Given the description of an element on the screen output the (x, y) to click on. 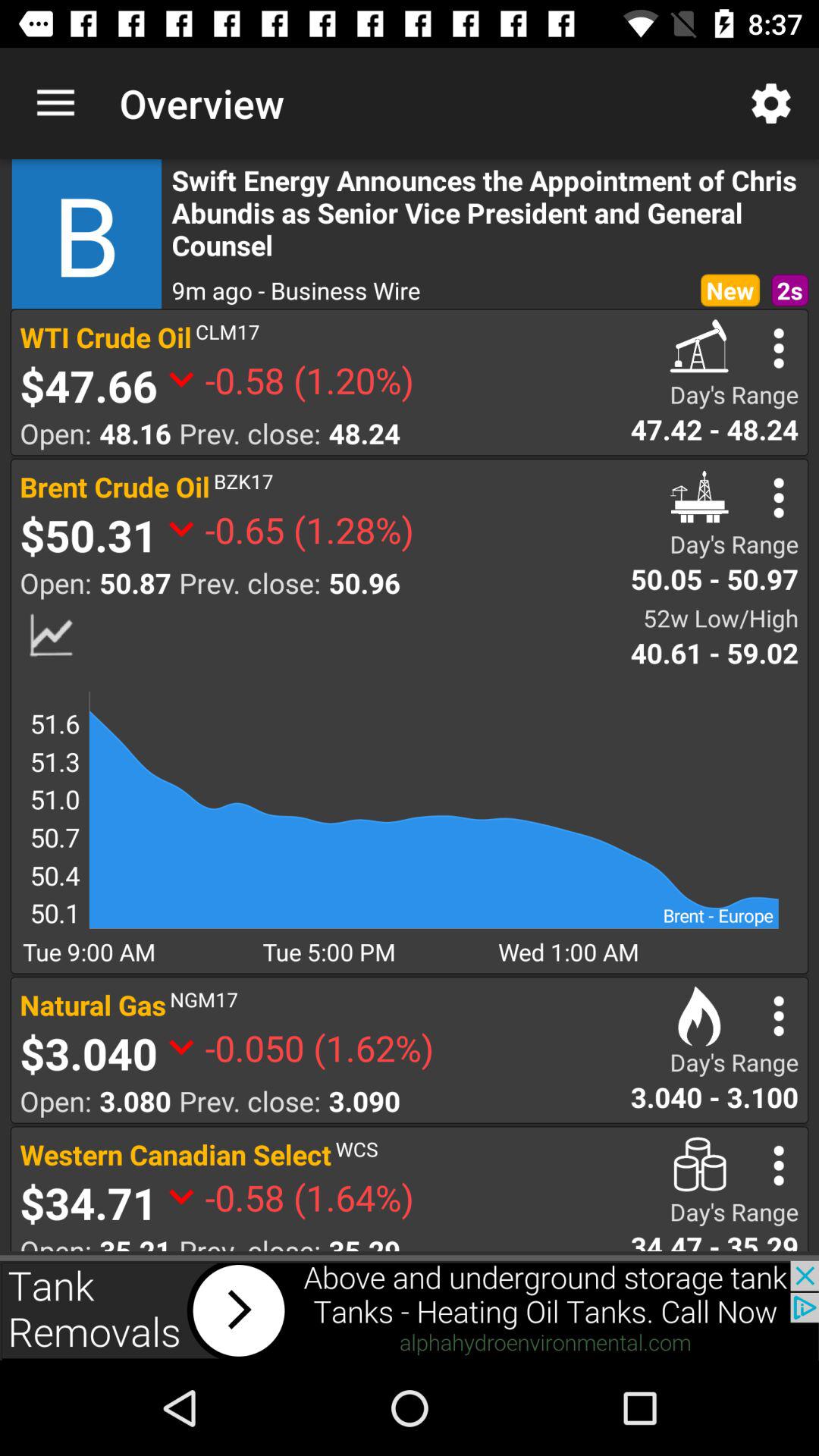
forward (409, 1310)
